Given the description of an element on the screen output the (x, y) to click on. 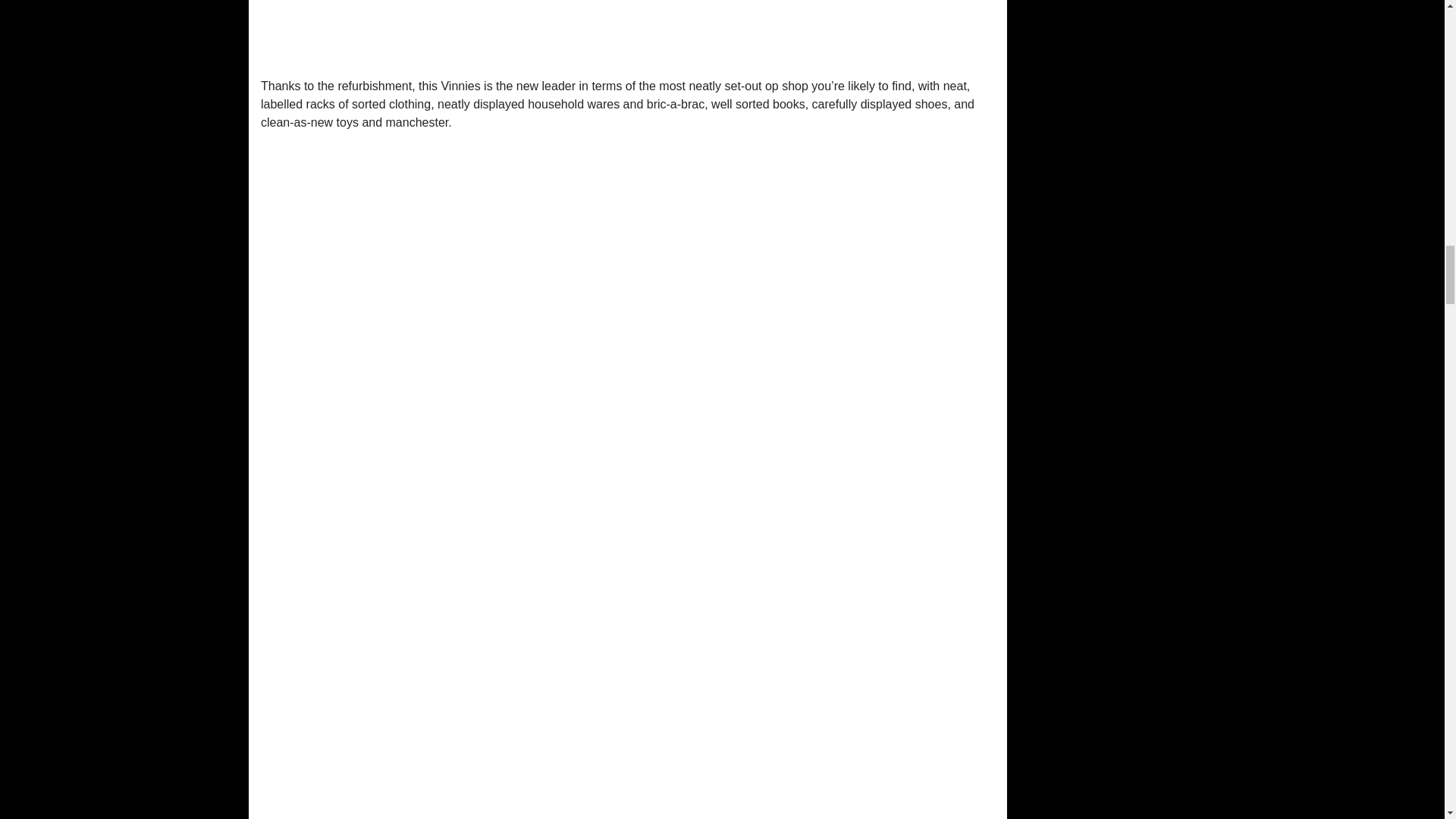
Vinnies Op Shop, Tugun (627, 32)
